Given the description of an element on the screen output the (x, y) to click on. 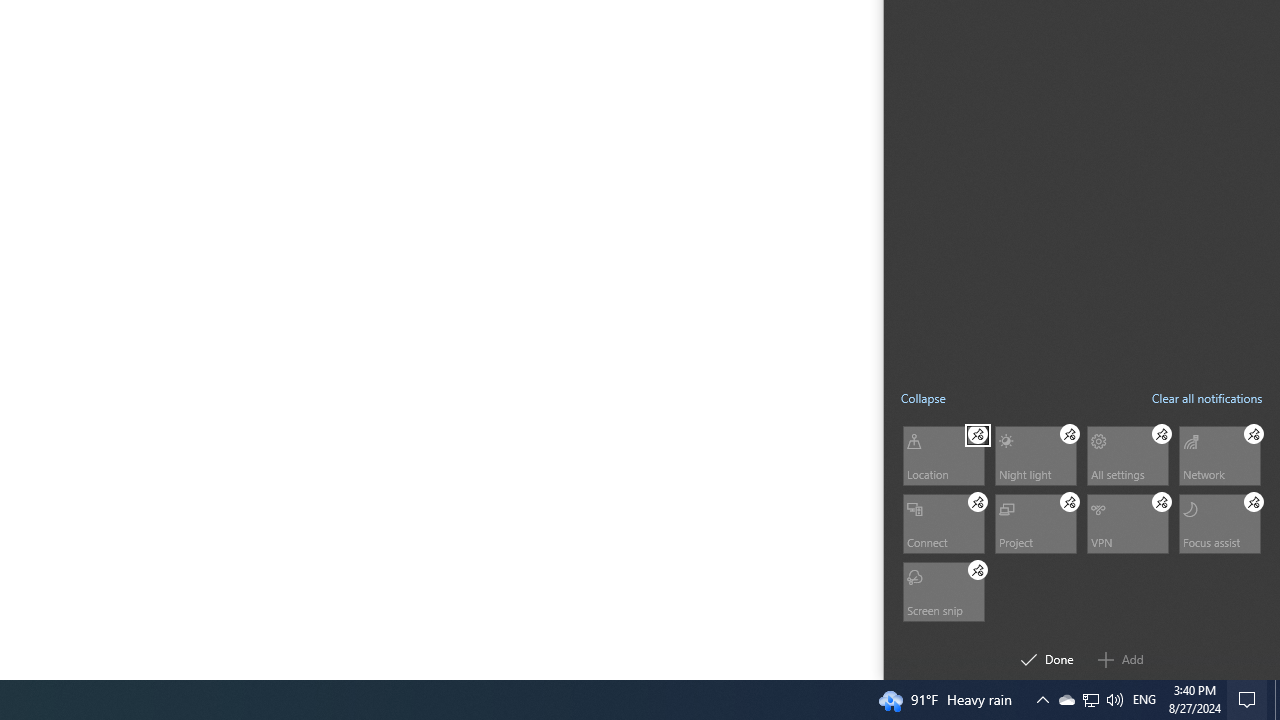
VPN Unpin (1162, 501)
Collapse quick actions (923, 398)
All settings Unpin (1162, 434)
Network (1218, 454)
Night light Unpin (1069, 434)
Tray Input Indicator - English (United States) (1144, 699)
VPN (1126, 522)
Night light (1034, 454)
Location (942, 454)
